Given the description of an element on the screen output the (x, y) to click on. 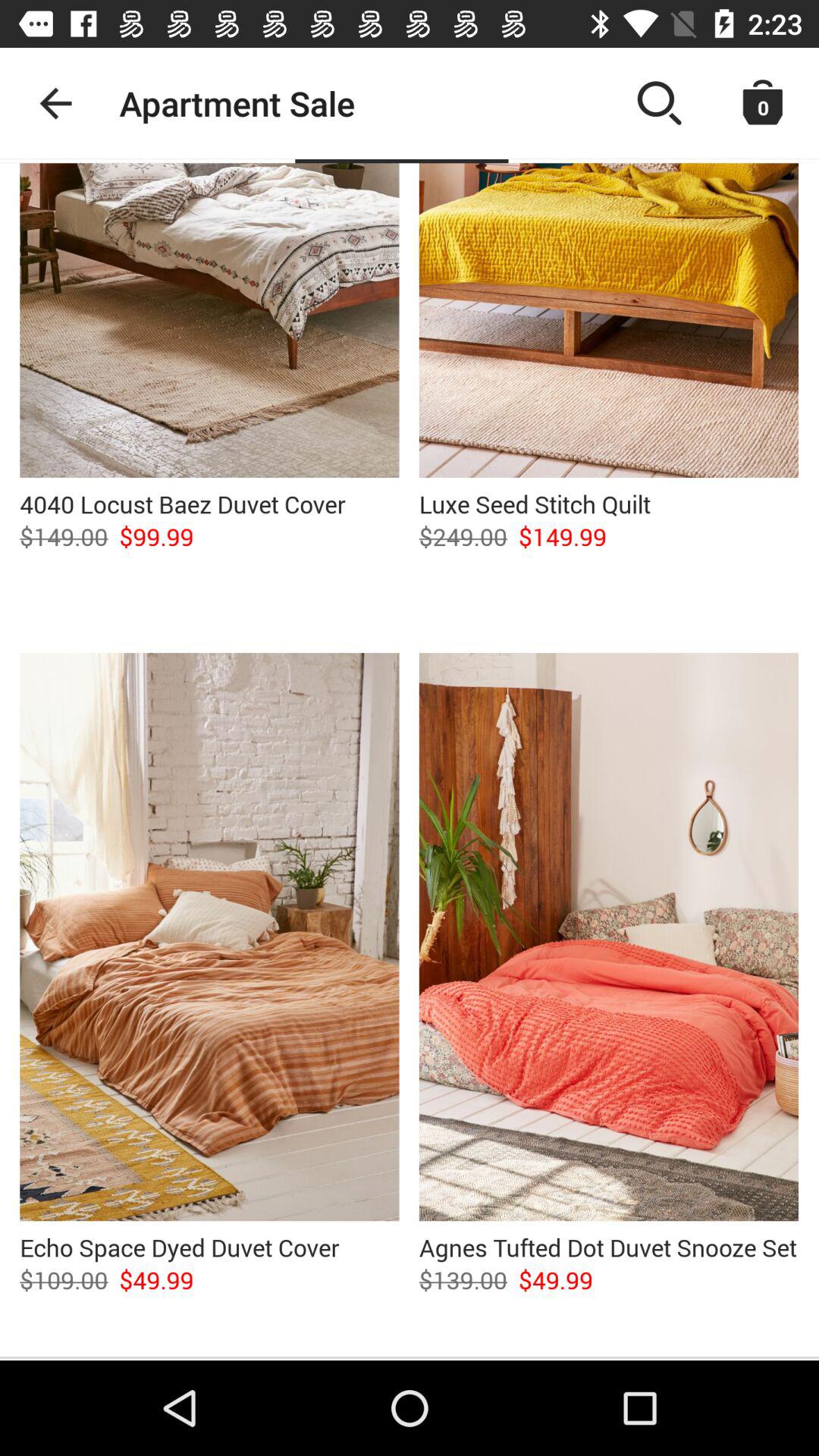
click on icon above 4040 locust baez duvet cover (209, 320)
